Given the description of an element on the screen output the (x, y) to click on. 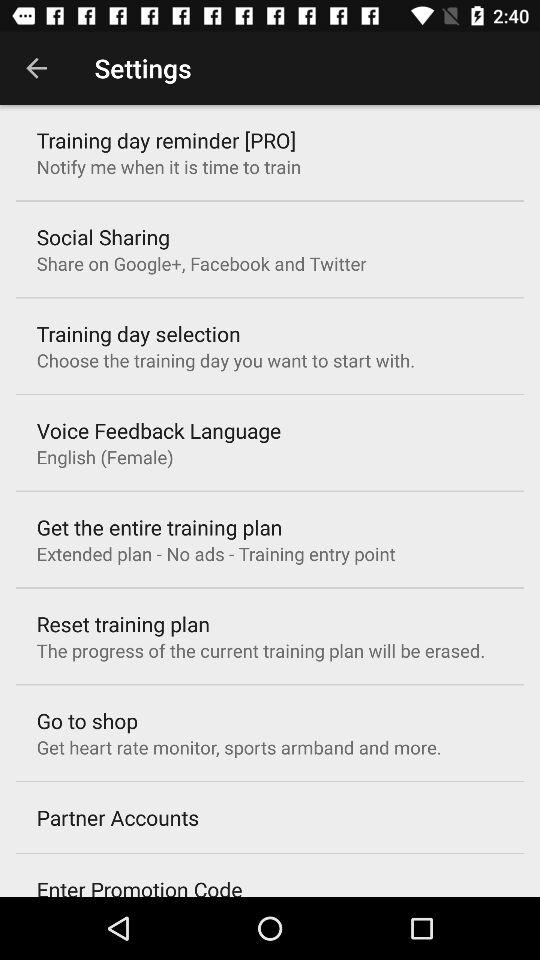
swipe until social sharing (102, 236)
